Given the description of an element on the screen output the (x, y) to click on. 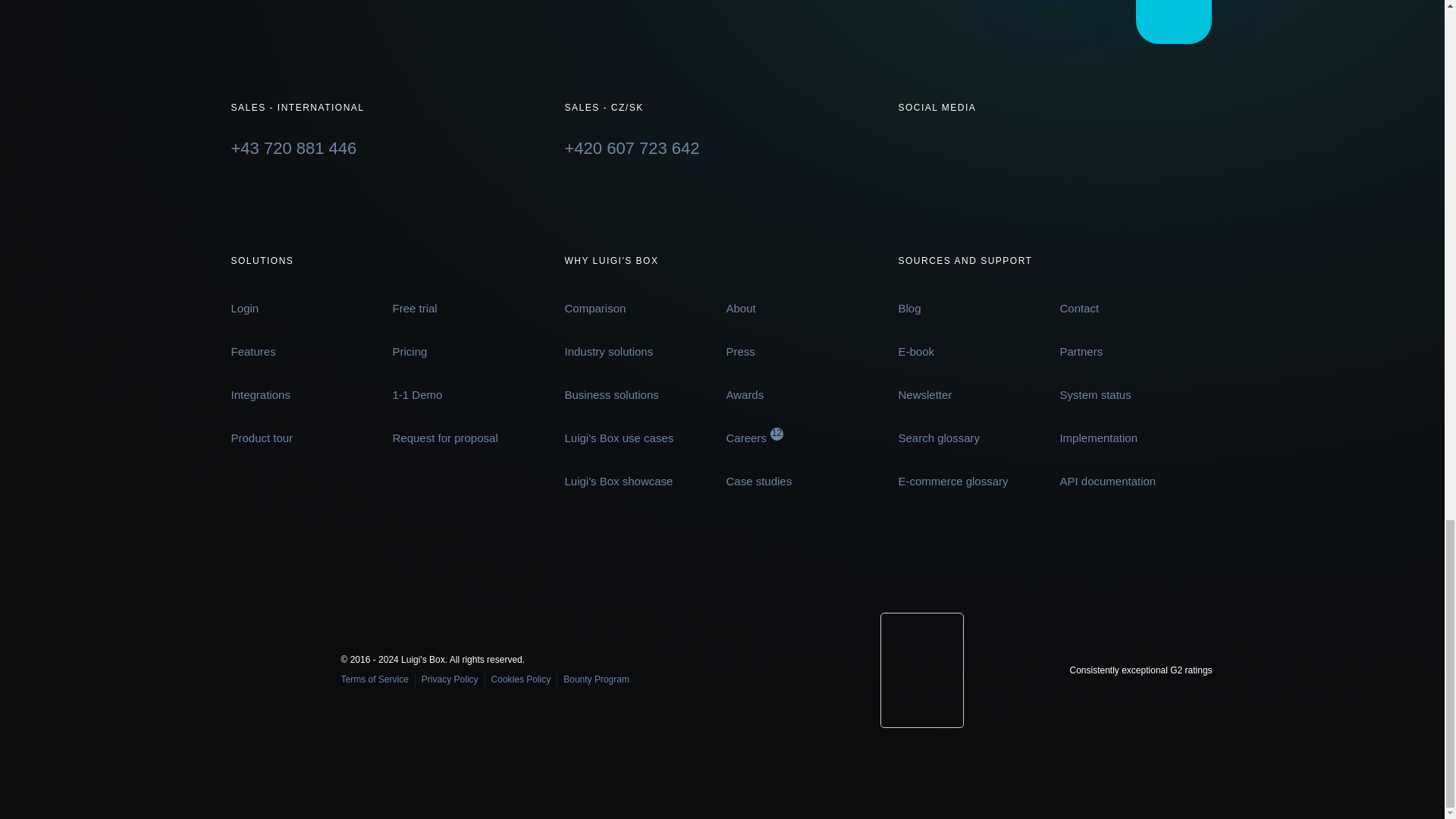
Read reviews of Luigi's Box on G2 (928, 670)
